Given the description of an element on the screen output the (x, y) to click on. 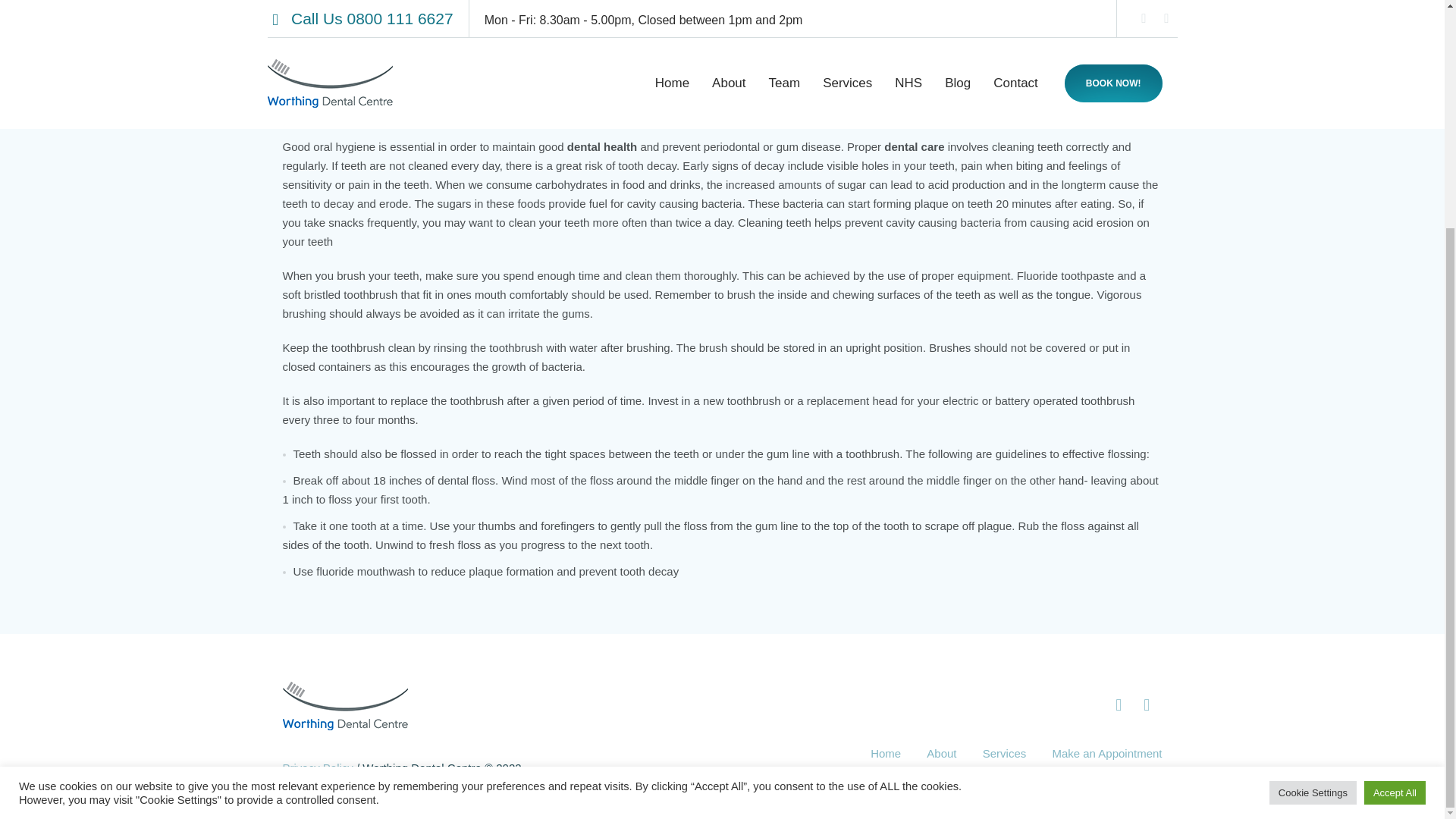
Cookie Settings (1312, 485)
Facebook (1118, 704)
About (941, 752)
Instagram (1146, 704)
Services (1004, 752)
Privacy Policy (317, 767)
Worthing Dental Centre (344, 705)
Accept All (1394, 485)
Home (885, 752)
Make an Appointment (1106, 752)
